Given the description of an element on the screen output the (x, y) to click on. 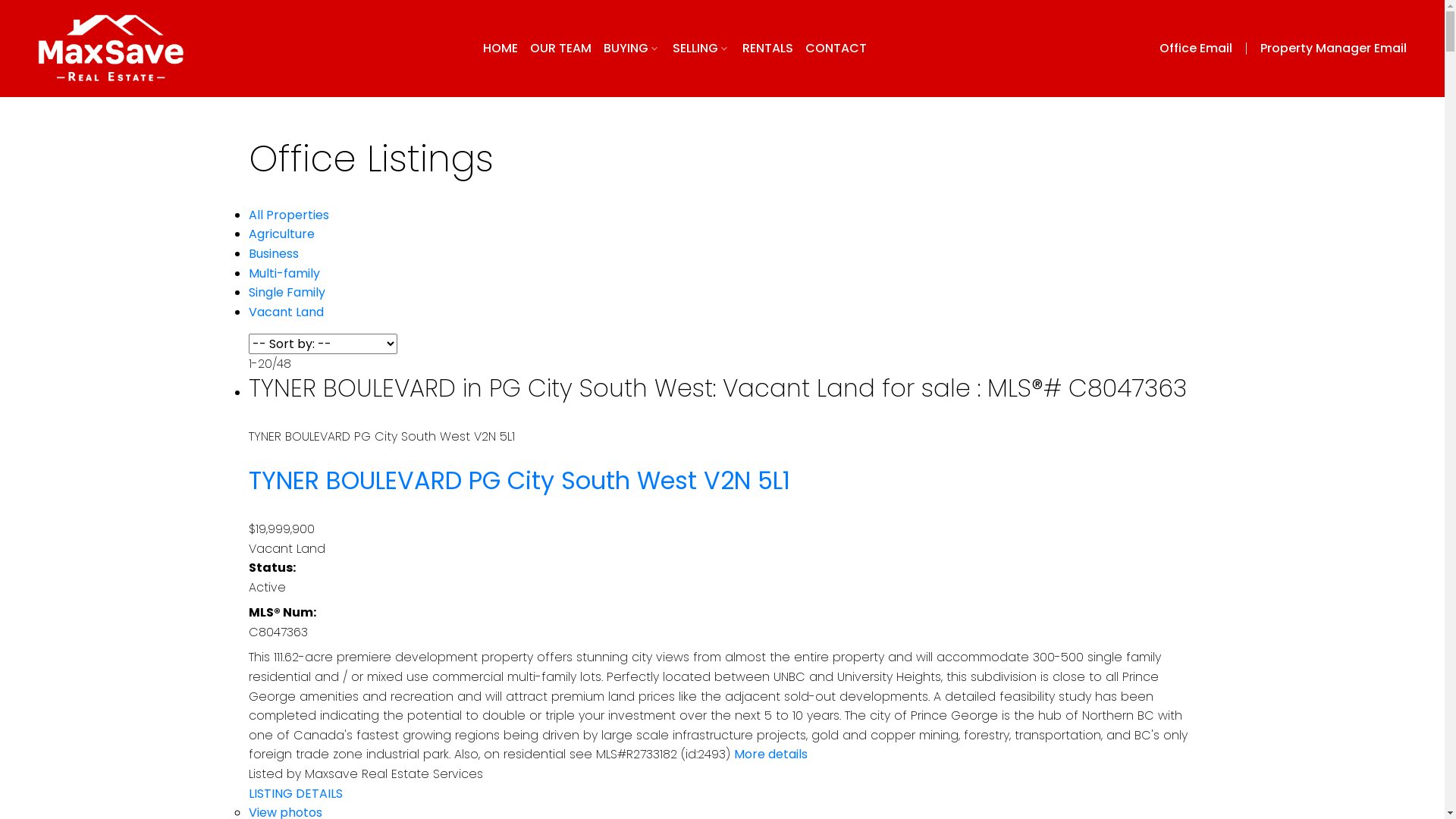
Business Element type: text (273, 253)
OUR TEAM Element type: text (559, 48)
Agriculture Element type: text (281, 233)
TYNER BOULEVARD PG City South West V2N 5L1 Element type: text (519, 480)
Office Email Element type: text (1206, 48)
SELLING Element type: text (700, 48)
More details Element type: text (770, 753)
RENTALS Element type: text (766, 48)
CONTACT Element type: text (835, 48)
BUYING Element type: text (631, 48)
All Properties Element type: text (288, 214)
HOME Element type: text (499, 48)
Single Family Element type: text (286, 292)
Property Manager Email Element type: text (1333, 48)
Vacant Land Element type: text (285, 311)
Multi-family Element type: text (284, 273)
LISTING DETAILS Element type: text (295, 793)
